Given the description of an element on the screen output the (x, y) to click on. 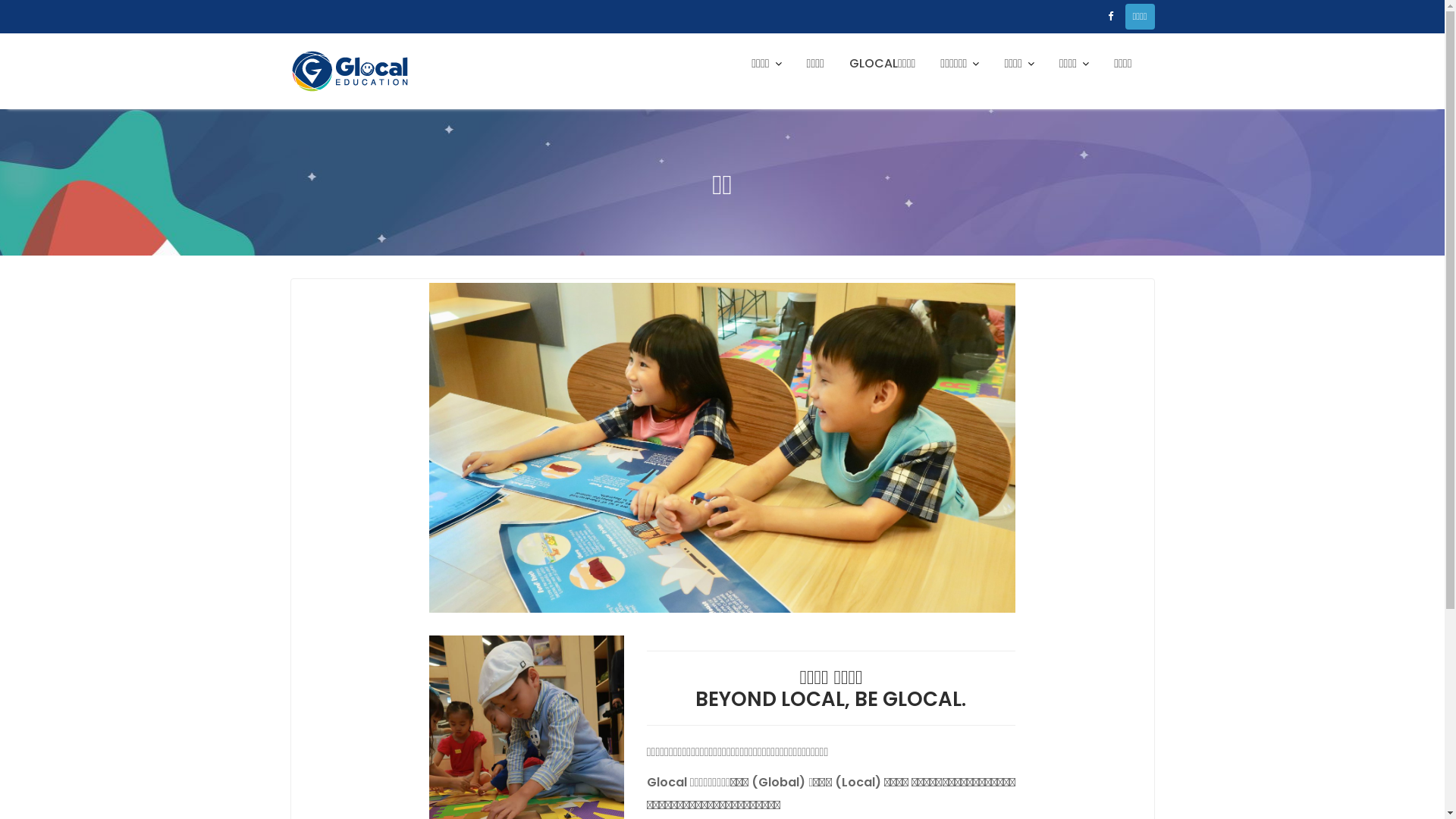
Skip to content Element type: text (0, 109)
Facebook Element type: hover (1110, 16)
